Given the description of an element on the screen output the (x, y) to click on. 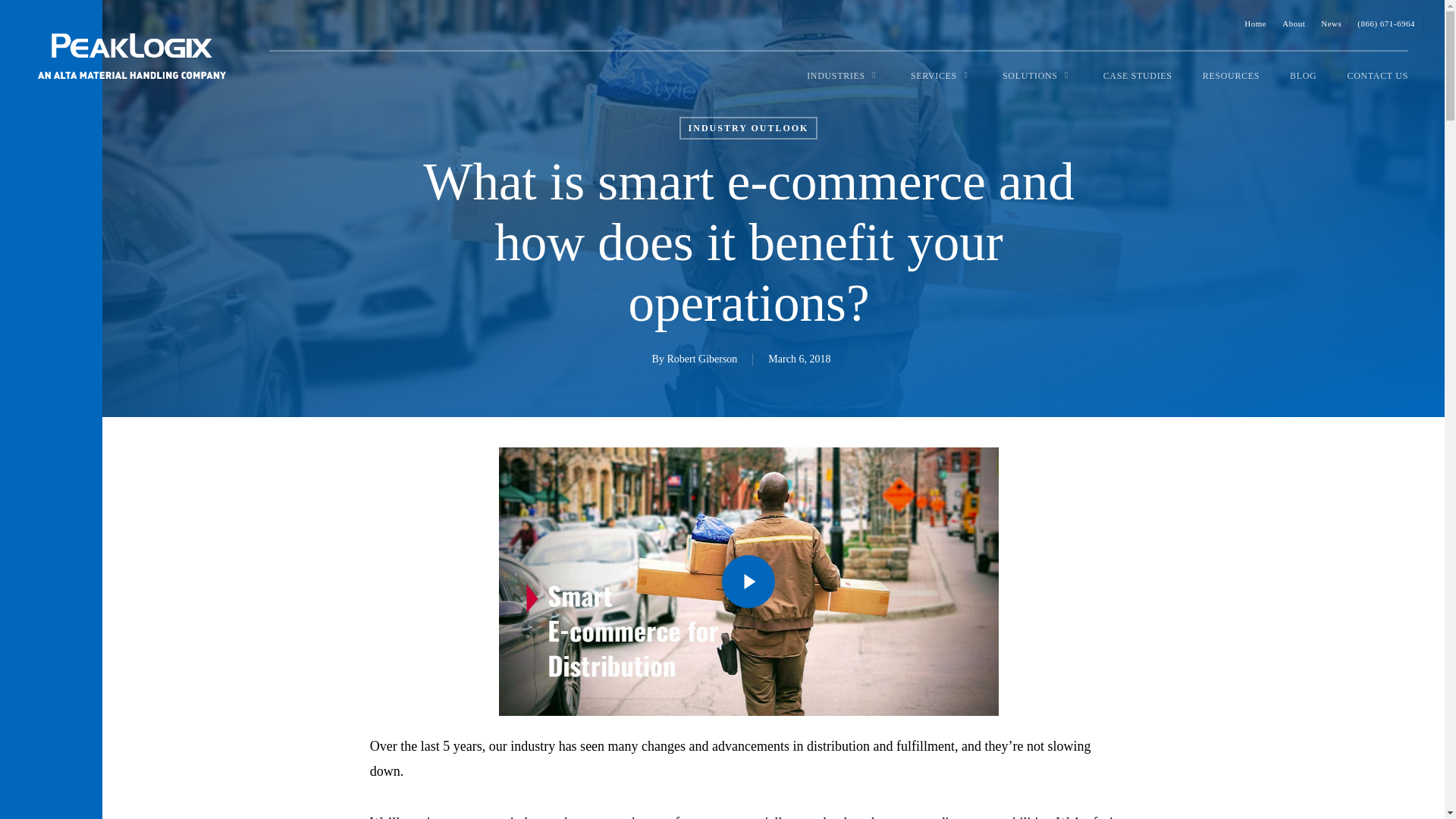
News (1331, 24)
INDUSTRIES (843, 74)
SOLUTIONS (1037, 74)
Home (1255, 24)
SERVICES (941, 74)
Posts by Robert Giberson (701, 358)
About (1293, 24)
